Given the description of an element on the screen output the (x, y) to click on. 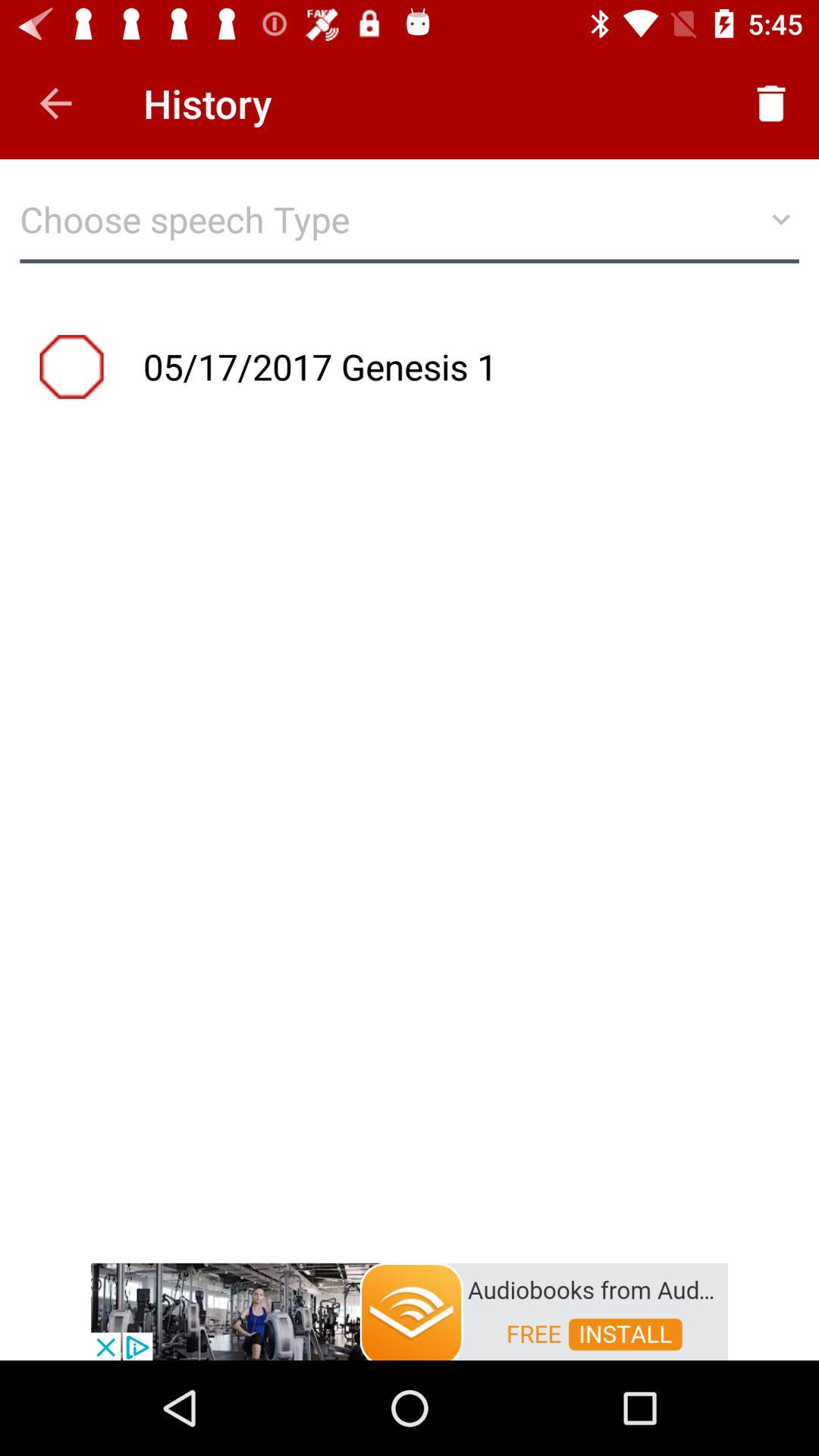
advertising (409, 1310)
